Given the description of an element on the screen output the (x, y) to click on. 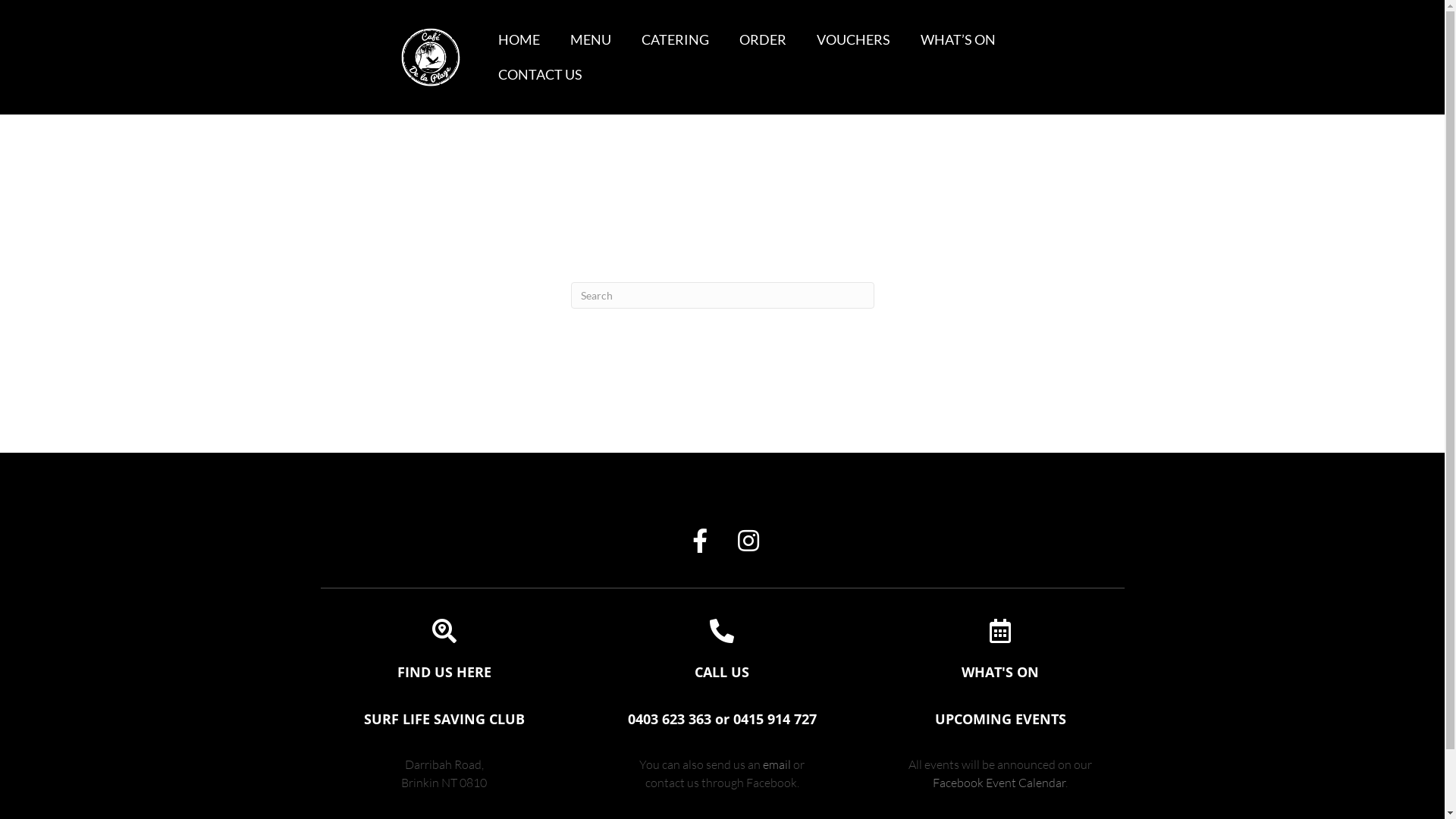
VOUCHERS Element type: text (853, 39)
0415 914 727 Element type: text (774, 718)
CONTACT US Element type: text (540, 74)
HOME Element type: text (519, 39)
Type and press Enter to search. Element type: hover (721, 295)
CATERING Element type: text (675, 39)
email Element type: text (776, 763)
ORDER Element type: text (762, 39)
MENU Element type: text (590, 39)
Facebook Event Calendar Element type: text (998, 782)
0403 623 363 Element type: text (669, 718)
Logo_De-la-Plage_2023_white Element type: hover (430, 57)
